Given the description of an element on the screen output the (x, y) to click on. 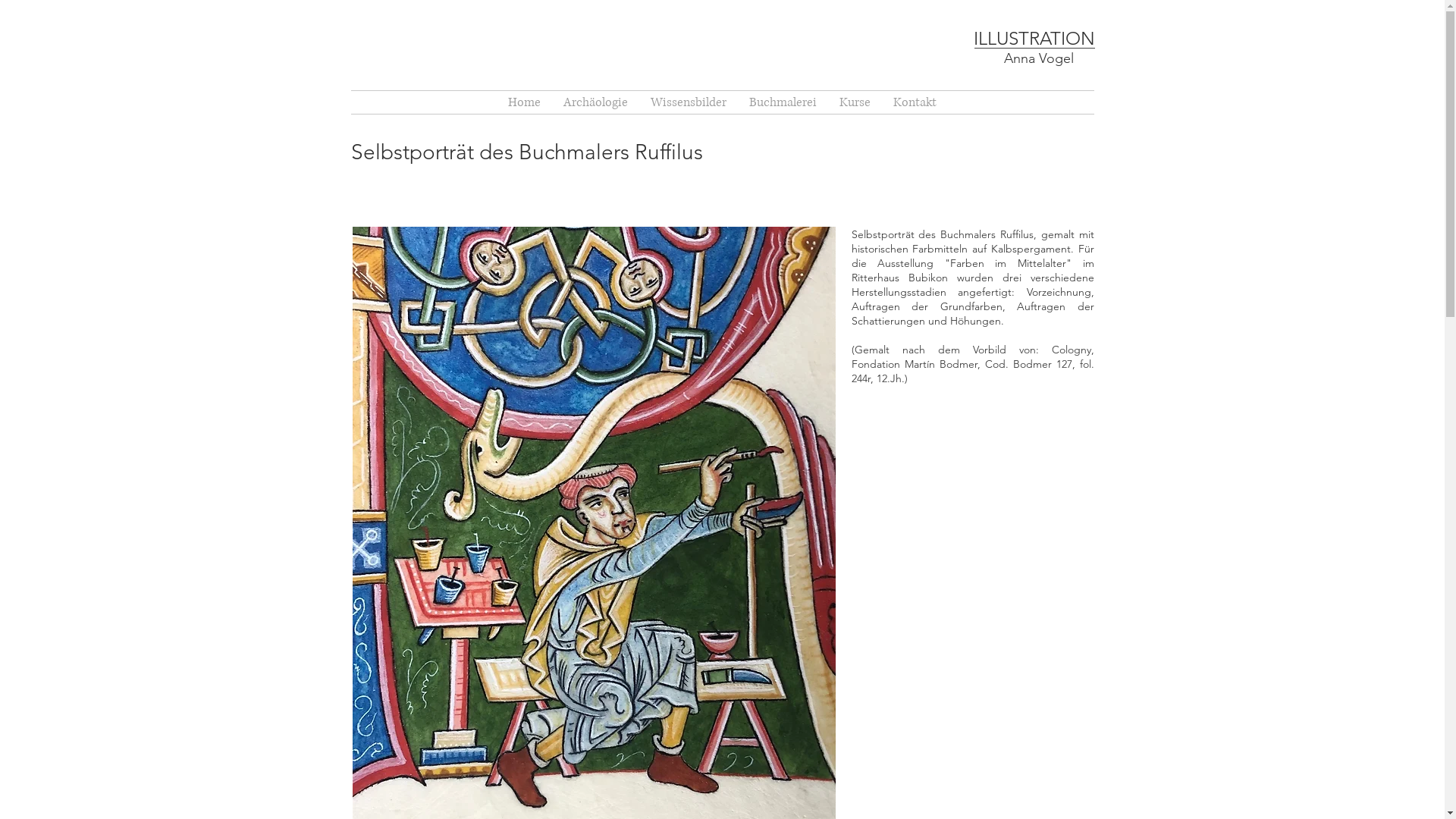
Kurse Element type: text (854, 102)
Wissensbilder Element type: text (688, 102)
ILLUSTRATION Element type: text (1034, 38)
Kontakt Element type: text (914, 102)
Buchmalerei Element type: text (782, 102)
Home Element type: text (524, 102)
